Given the description of an element on the screen output the (x, y) to click on. 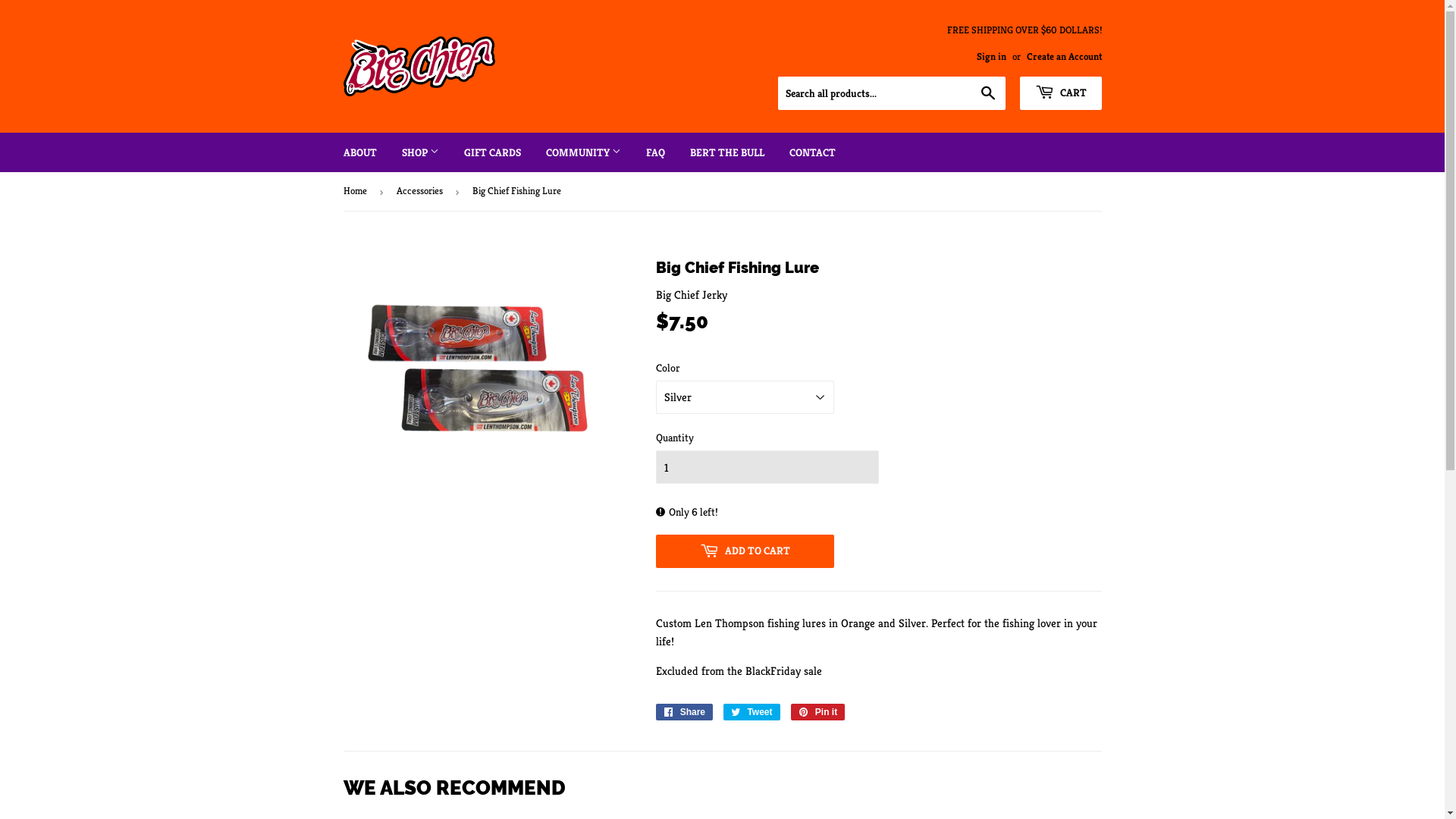
Search Element type: text (987, 93)
Pin it
Pin on Pinterest Element type: text (817, 711)
ADD TO CART Element type: text (744, 550)
Home Element type: text (356, 191)
CART Element type: text (1060, 92)
Create an Account Element type: text (1063, 56)
FAQ Element type: text (654, 152)
BERT THE BULL Element type: text (726, 152)
GIFT CARDS Element type: text (491, 152)
Share
Share on Facebook Element type: text (683, 711)
Sign in Element type: text (991, 56)
CONTACT Element type: text (812, 152)
Accessories Element type: text (421, 191)
SHOP Element type: text (419, 152)
COMMUNITY Element type: text (582, 152)
ABOUT Element type: text (360, 152)
Tweet
Tweet on Twitter Element type: text (751, 711)
